Given the description of an element on the screen output the (x, y) to click on. 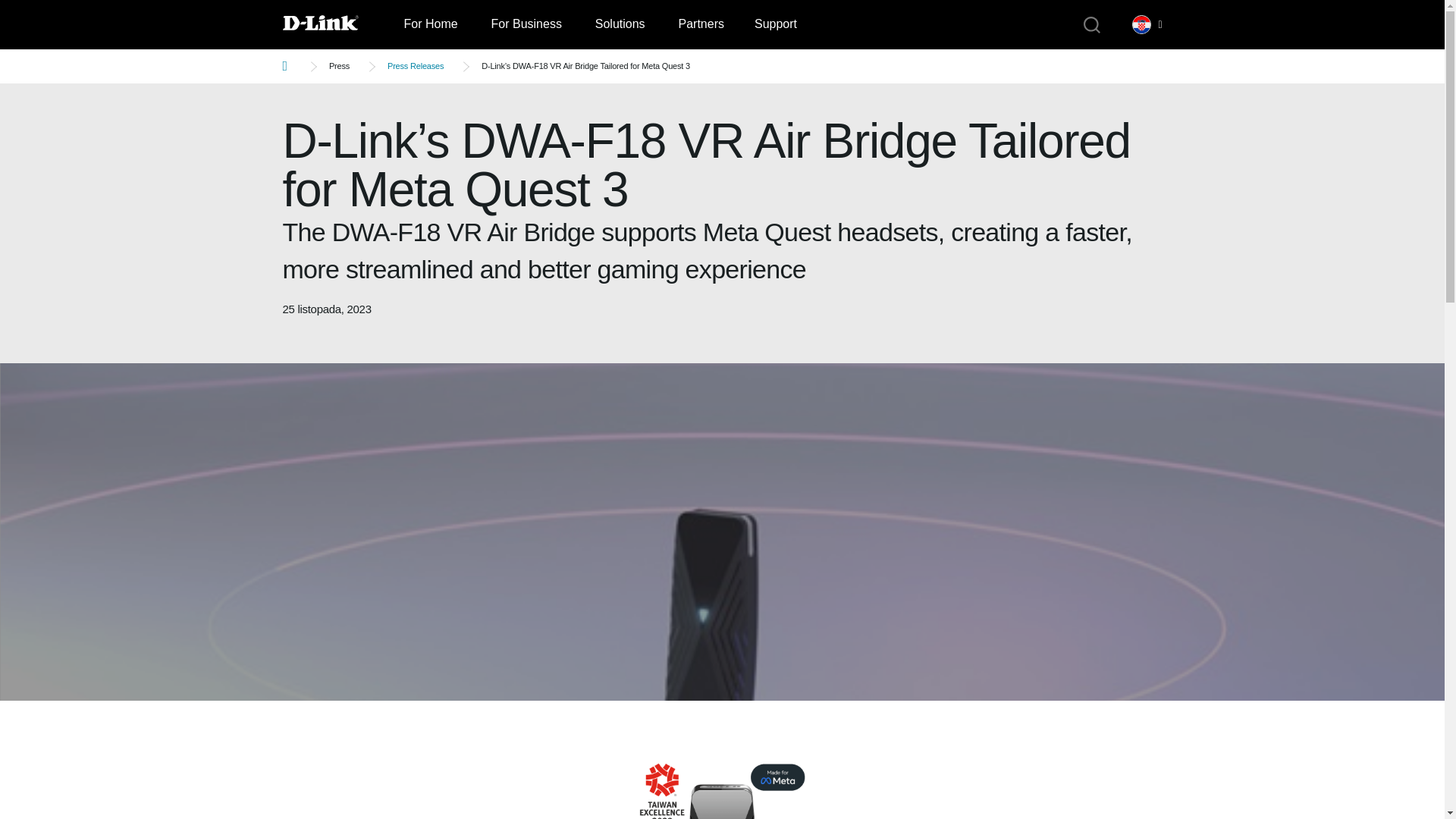
Partners (700, 24)
D-Link (335, 24)
Solutions (620, 24)
For Business (526, 24)
For Home (429, 24)
Support (775, 24)
